Given the description of an element on the screen output the (x, y) to click on. 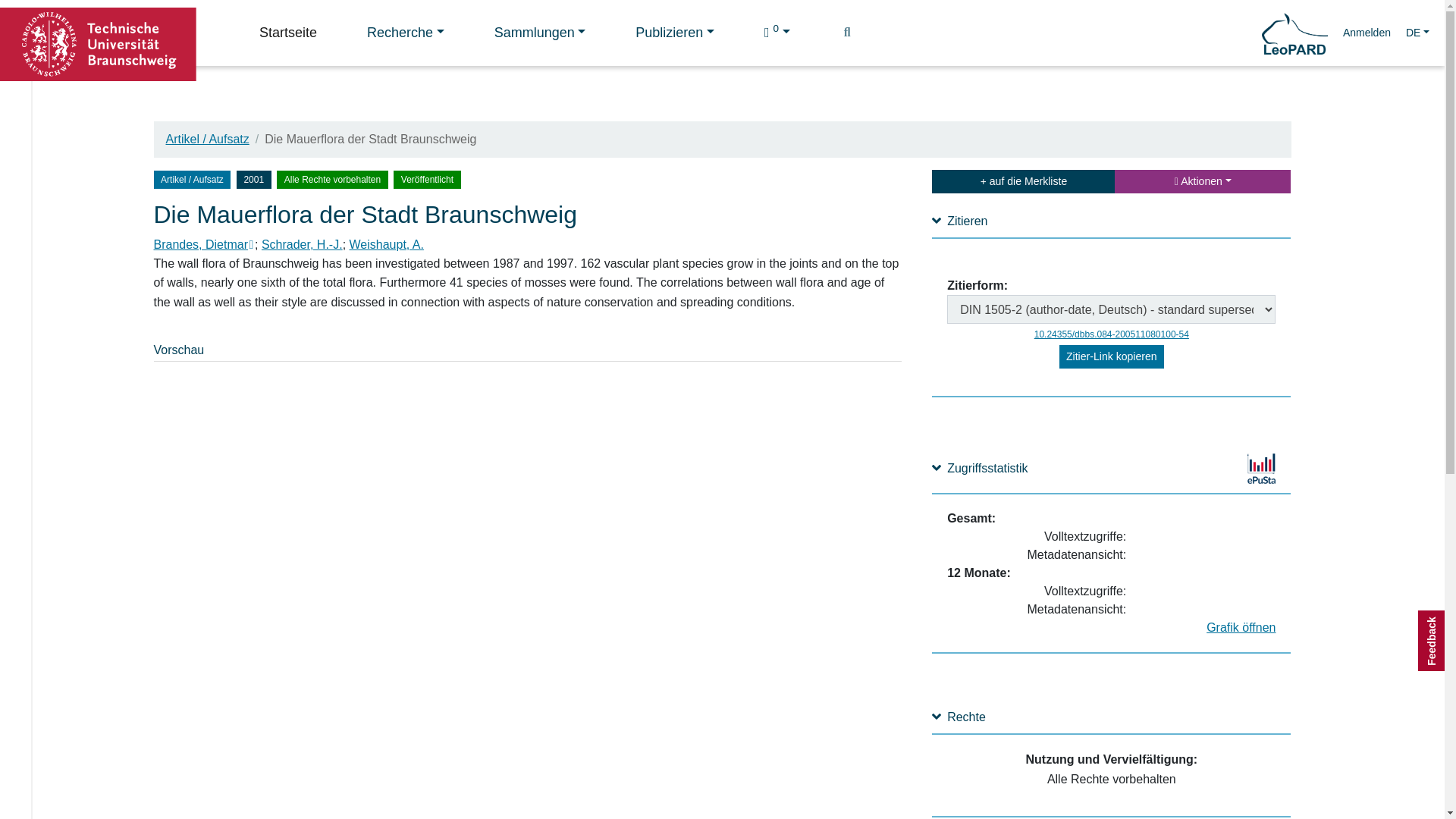
Publikationsstatus (426, 179)
Startseite (288, 33)
Hier klicken um ggf. weitere Zitierlinks zu sehen. (1111, 356)
Sammlungen (539, 33)
Recherche (405, 33)
Alle Rechte vorbehalten (332, 179)
Publication date (255, 178)
2001 (252, 179)
Publizieren (674, 33)
zur Startseite der TU Braunschweig (98, 42)
